Given the description of an element on the screen output the (x, y) to click on. 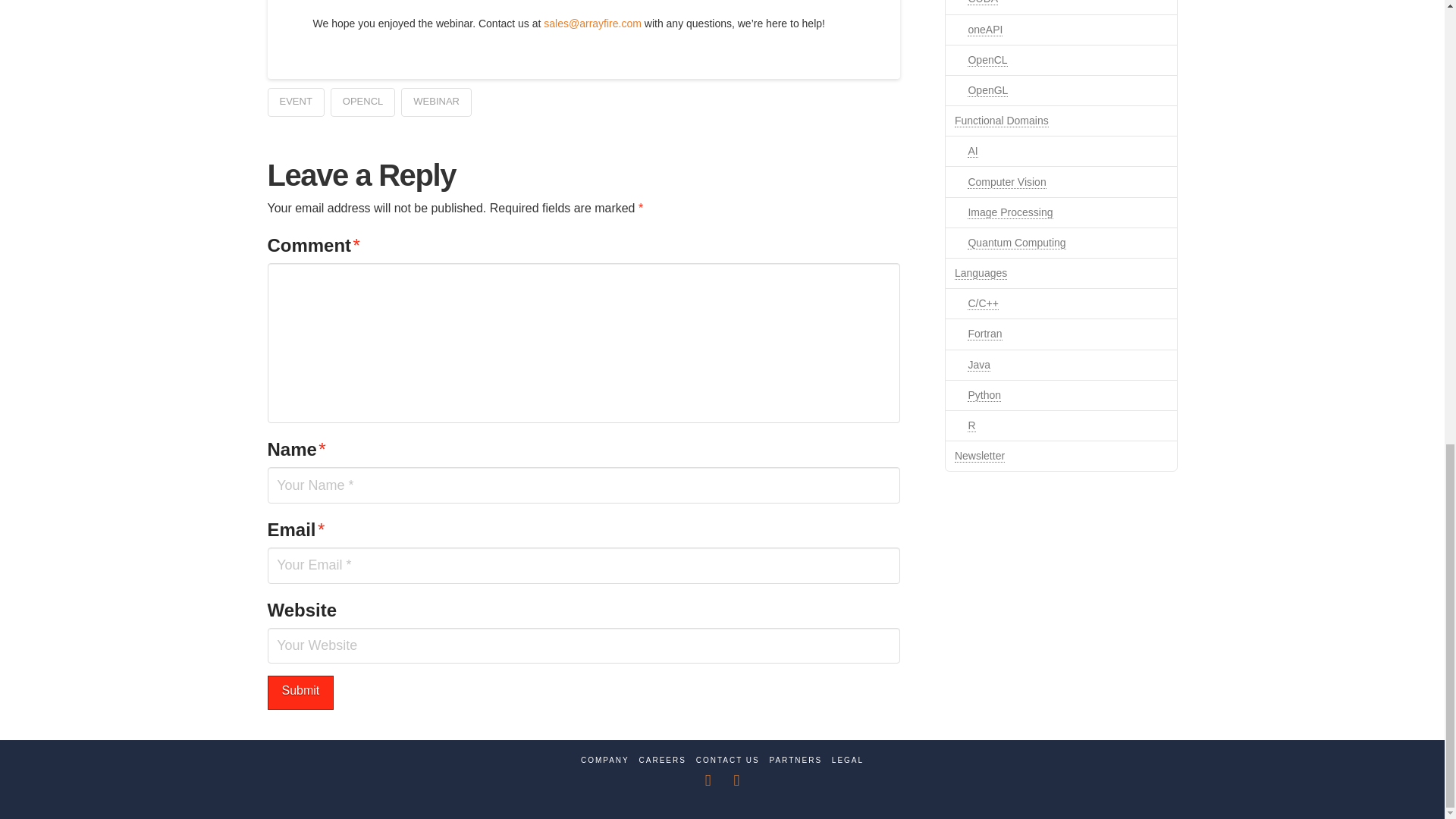
WEBINAR (436, 102)
Submit (299, 692)
Submit (299, 692)
OPENCL (362, 102)
EVENT (294, 102)
CUDA (982, 2)
